Given the description of an element on the screen output the (x, y) to click on. 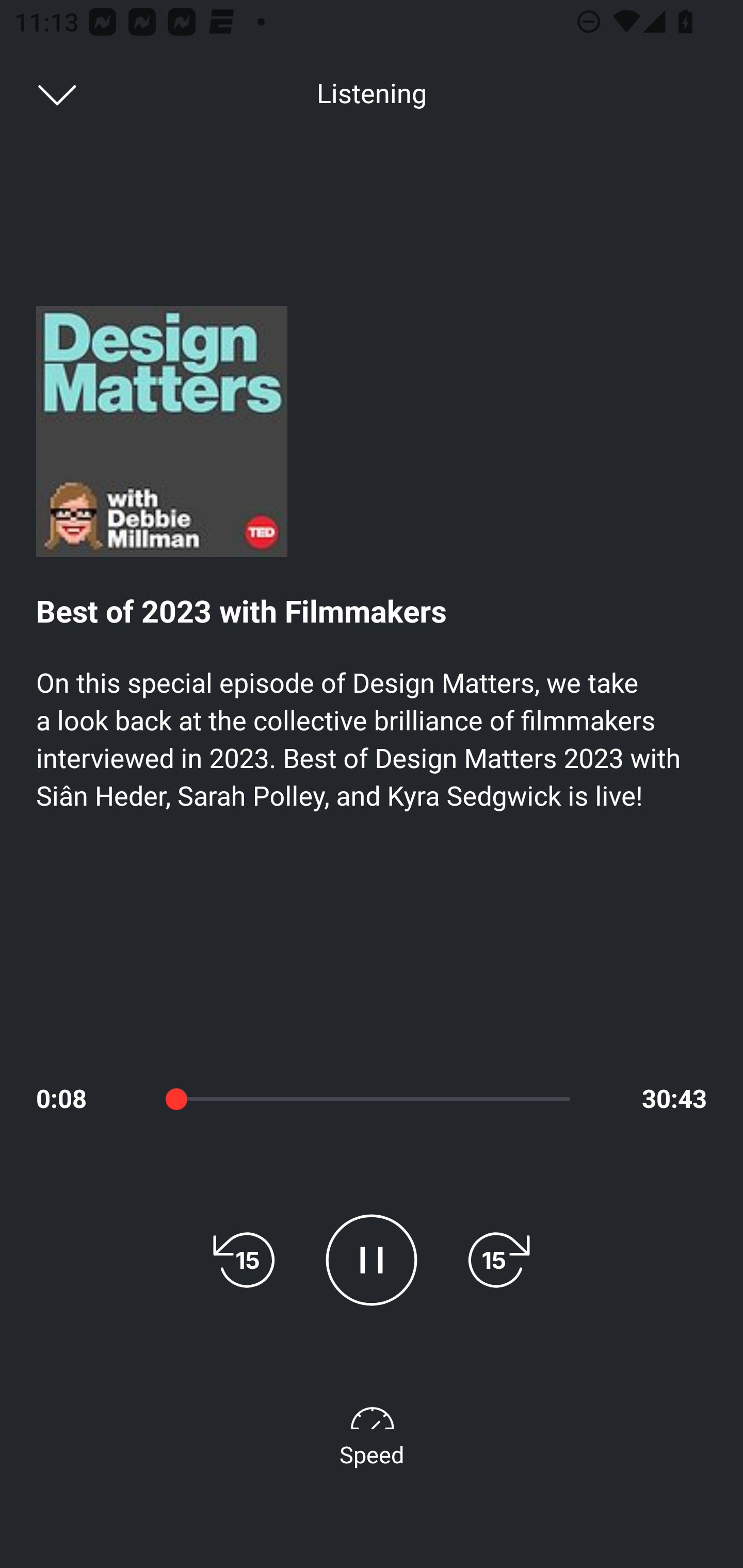
Listening (371, 93)
TED Podcasts, back (47, 92)
Roy Wood Jr. 41:59 . Dec 18, 2023 (371, 1052)
Speed (371, 1433)
